Given the description of an element on the screen output the (x, y) to click on. 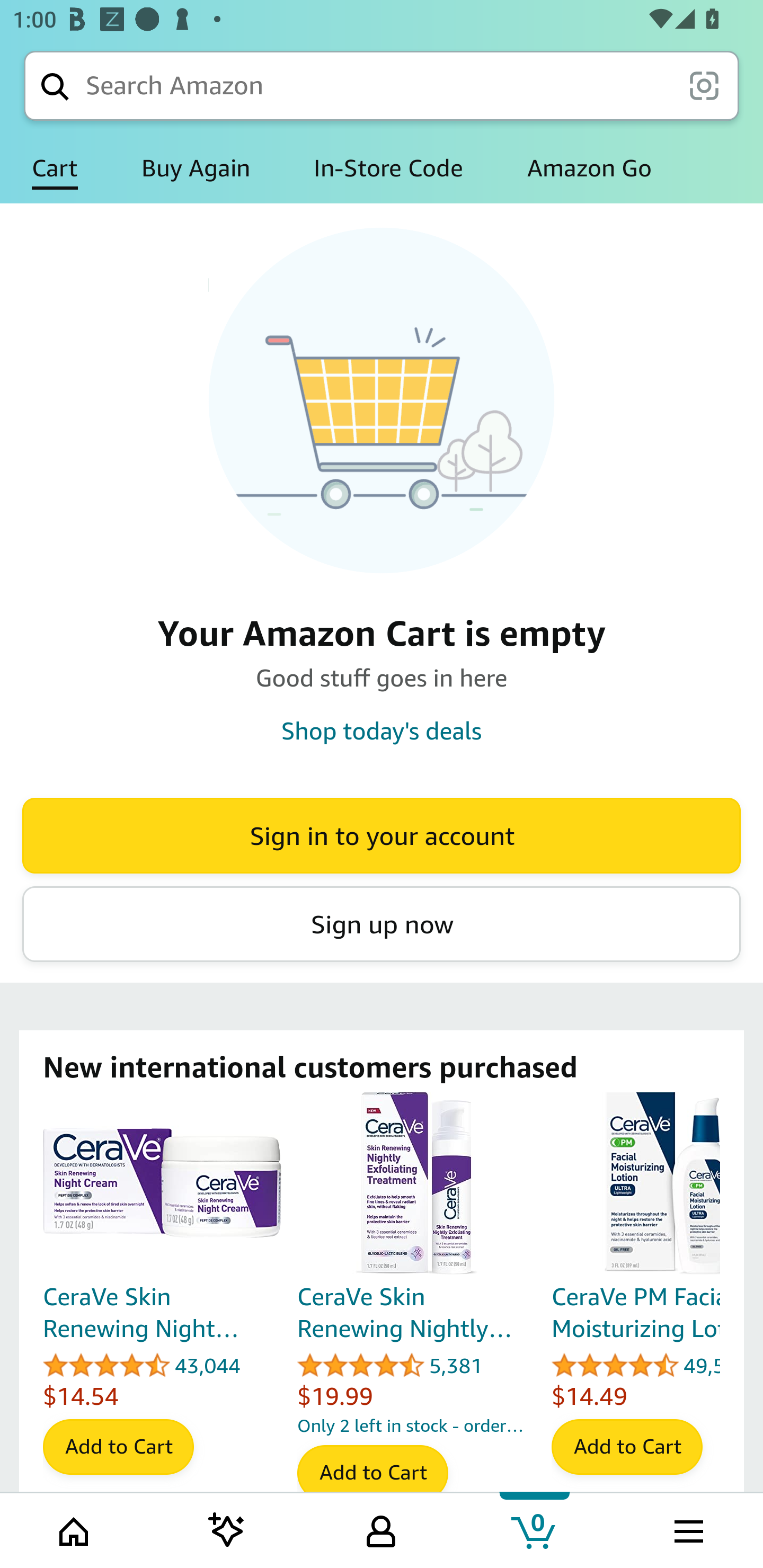
Search Search Search Amazon scan it (381, 85)
scan it (704, 85)
Cart (54, 168)
Buy Again (195, 168)
In-Store Code (388, 168)
Amazon Go (589, 168)
Shop today's deals (381, 729)
Sign in to your account (381, 835)
Sign up now (381, 924)
Add to Cart (118, 1447)
Add to Cart (627, 1447)
Add to Cart (372, 1472)
Home Tab 1 of 5 (75, 1529)
Inspire feed Tab 2 of 5 (227, 1529)
Your Amazon.com Tab 3 of 5 (380, 1529)
Cart 0 item Tab 4 of 5 0 (534, 1529)
Browse menu Tab 5 of 5 (687, 1529)
